Given the description of an element on the screen output the (x, y) to click on. 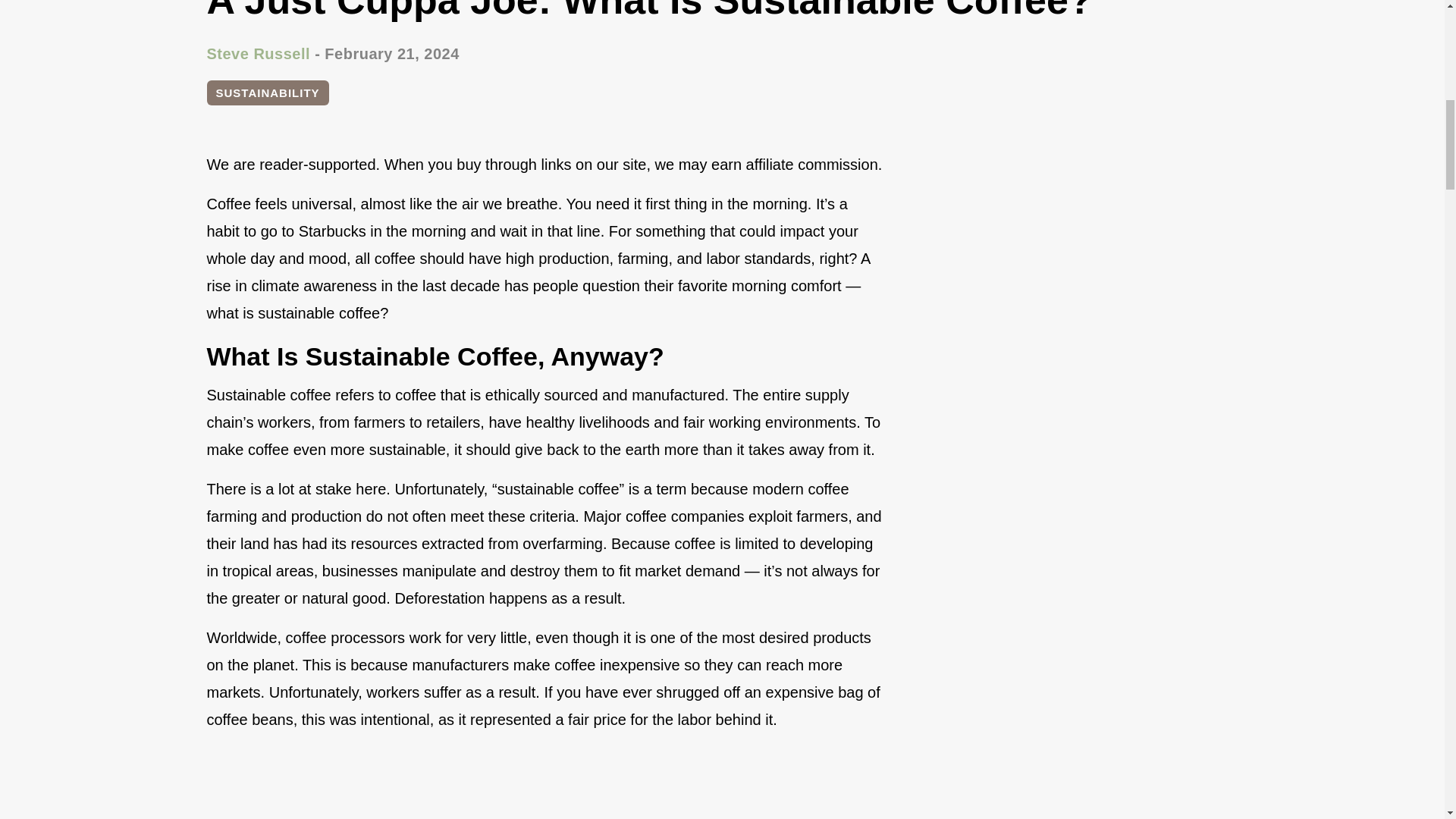
SUSTAINABILITY (267, 93)
Steve Russell (258, 53)
